Given the description of an element on the screen output the (x, y) to click on. 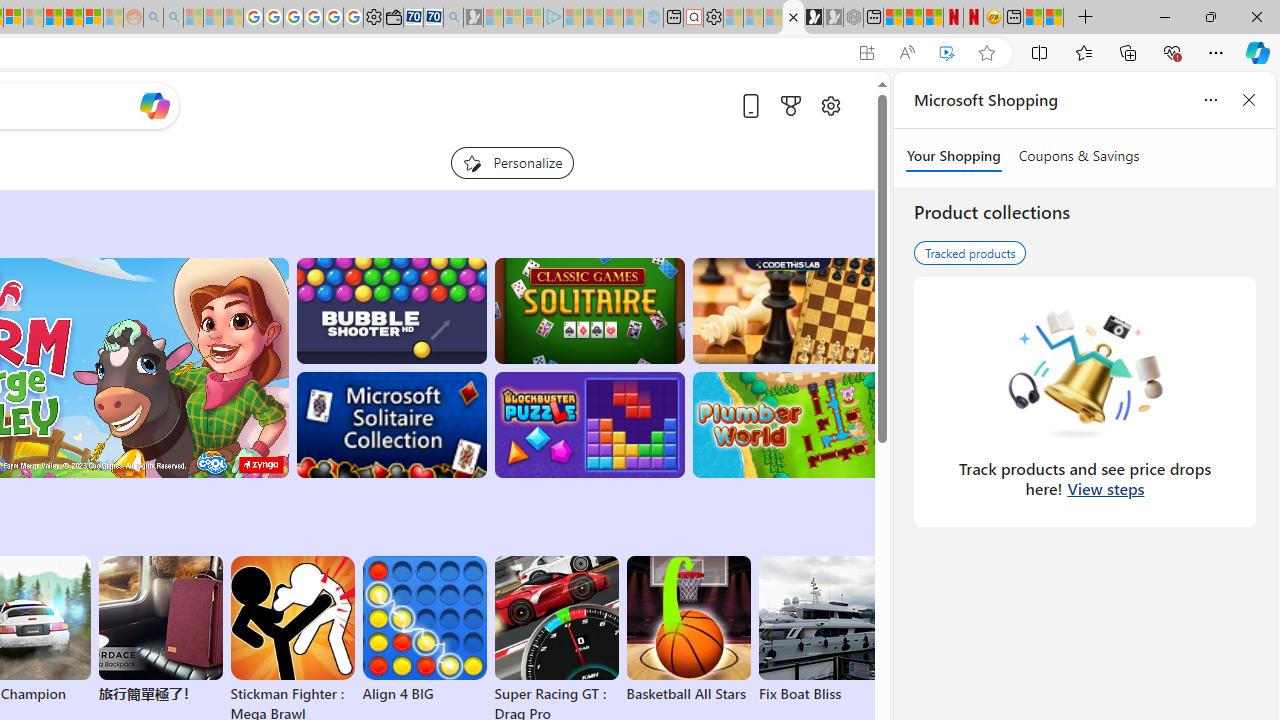
Plumber World (787, 425)
App available. Install Games from Microsoft Start (867, 53)
BlockBuster: Adventures Puzzle (589, 425)
